Given the description of an element on the screen output the (x, y) to click on. 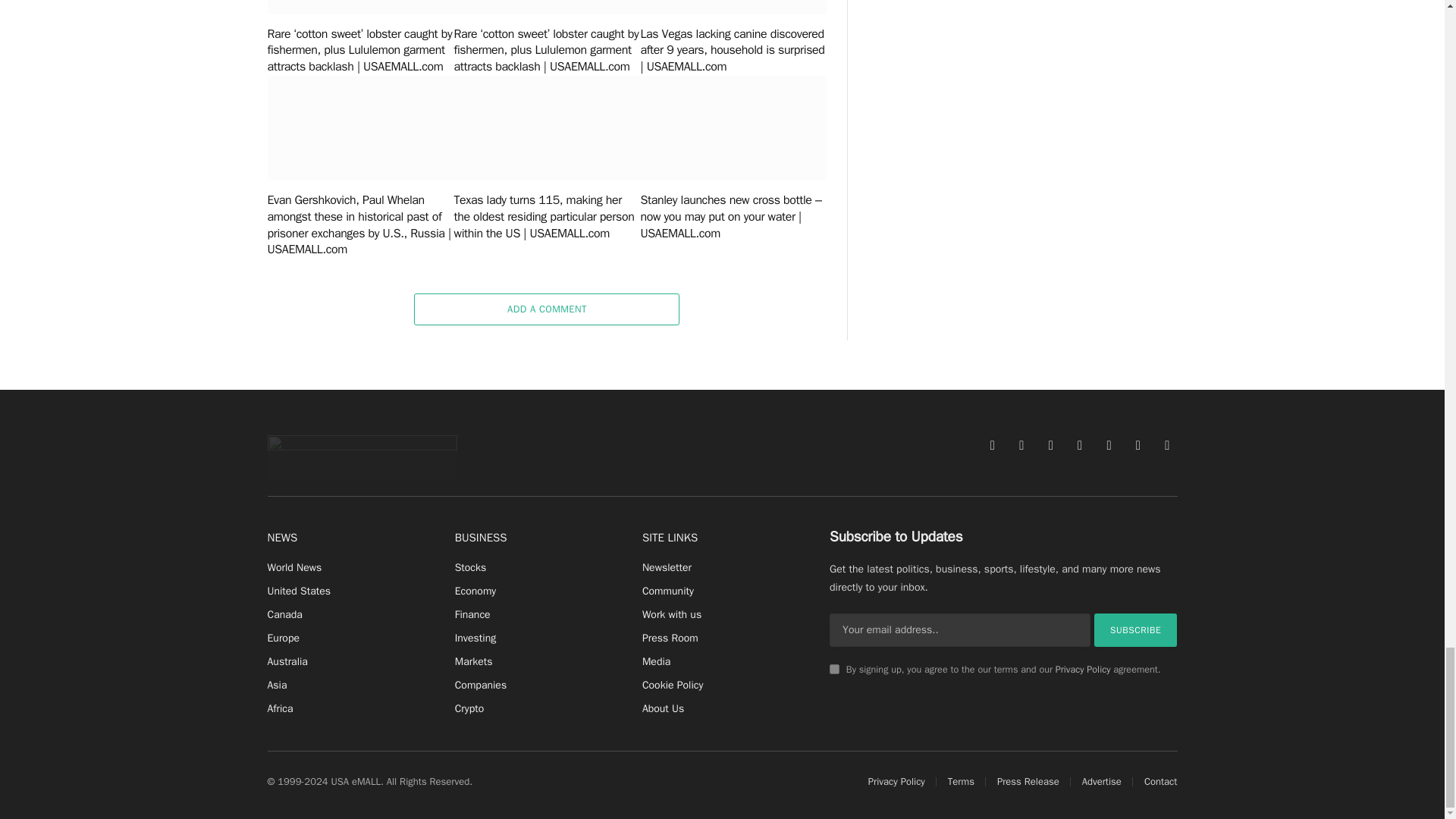
Subscribe (1135, 630)
on (834, 669)
